Given the description of an element on the screen output the (x, y) to click on. 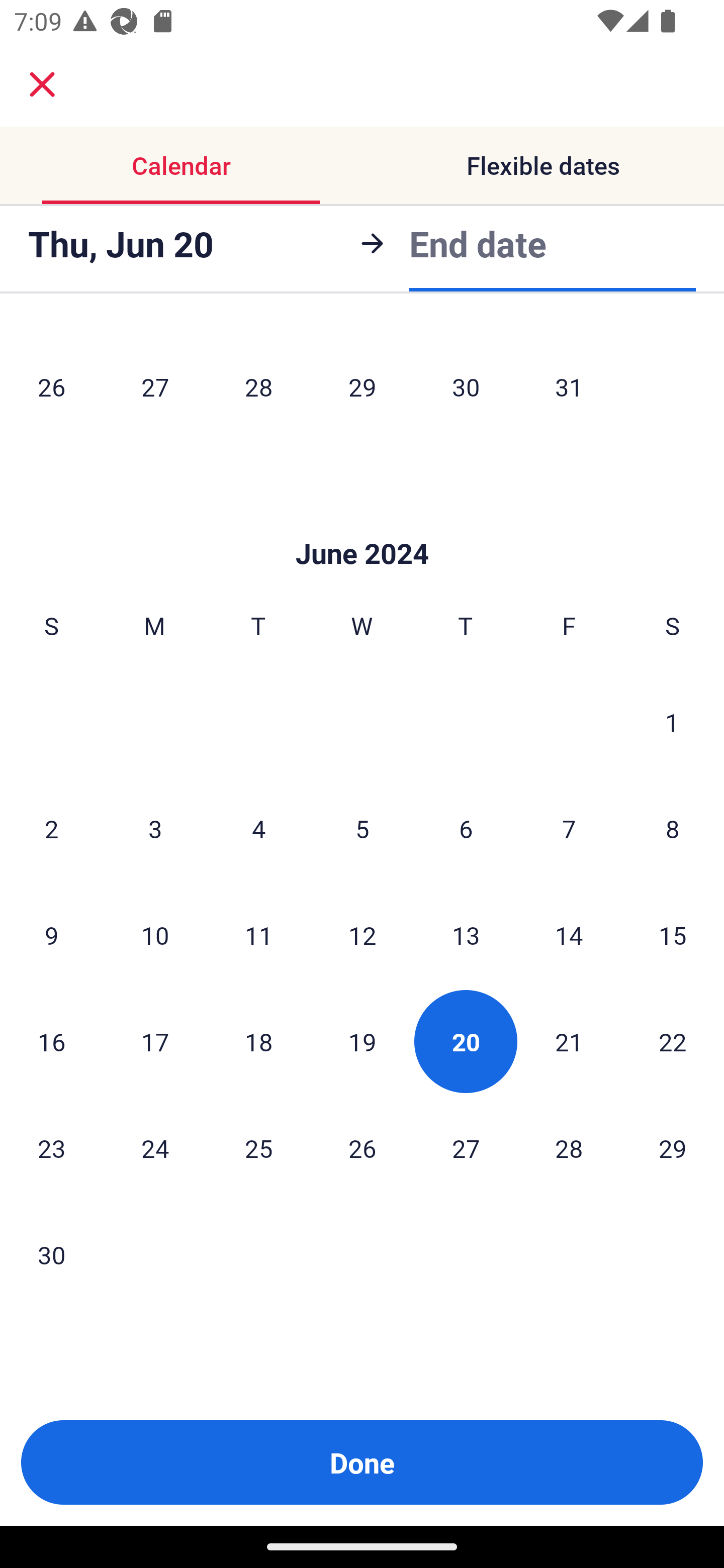
close. (42, 84)
Flexible dates (542, 164)
End date (477, 240)
26 Sunday, May 26, 2024 (51, 386)
27 Monday, May 27, 2024 (155, 386)
28 Tuesday, May 28, 2024 (258, 386)
29 Wednesday, May 29, 2024 (362, 386)
30 Thursday, May 30, 2024 (465, 386)
31 Friday, May 31, 2024 (569, 386)
Skip to Done (362, 523)
1 Saturday, June 1, 2024 (672, 722)
2 Sunday, June 2, 2024 (51, 828)
3 Monday, June 3, 2024 (155, 828)
4 Tuesday, June 4, 2024 (258, 828)
5 Wednesday, June 5, 2024 (362, 828)
6 Thursday, June 6, 2024 (465, 828)
7 Friday, June 7, 2024 (569, 828)
8 Saturday, June 8, 2024 (672, 828)
9 Sunday, June 9, 2024 (51, 934)
10 Monday, June 10, 2024 (155, 934)
11 Tuesday, June 11, 2024 (258, 934)
12 Wednesday, June 12, 2024 (362, 934)
13 Thursday, June 13, 2024 (465, 934)
14 Friday, June 14, 2024 (569, 934)
15 Saturday, June 15, 2024 (672, 934)
16 Sunday, June 16, 2024 (51, 1040)
17 Monday, June 17, 2024 (155, 1040)
18 Tuesday, June 18, 2024 (258, 1040)
19 Wednesday, June 19, 2024 (362, 1040)
21 Friday, June 21, 2024 (569, 1040)
22 Saturday, June 22, 2024 (672, 1040)
23 Sunday, June 23, 2024 (51, 1147)
24 Monday, June 24, 2024 (155, 1147)
25 Tuesday, June 25, 2024 (258, 1147)
26 Wednesday, June 26, 2024 (362, 1147)
27 Thursday, June 27, 2024 (465, 1147)
28 Friday, June 28, 2024 (569, 1147)
29 Saturday, June 29, 2024 (672, 1147)
30 Sunday, June 30, 2024 (51, 1254)
Done (361, 1462)
